Given the description of an element on the screen output the (x, y) to click on. 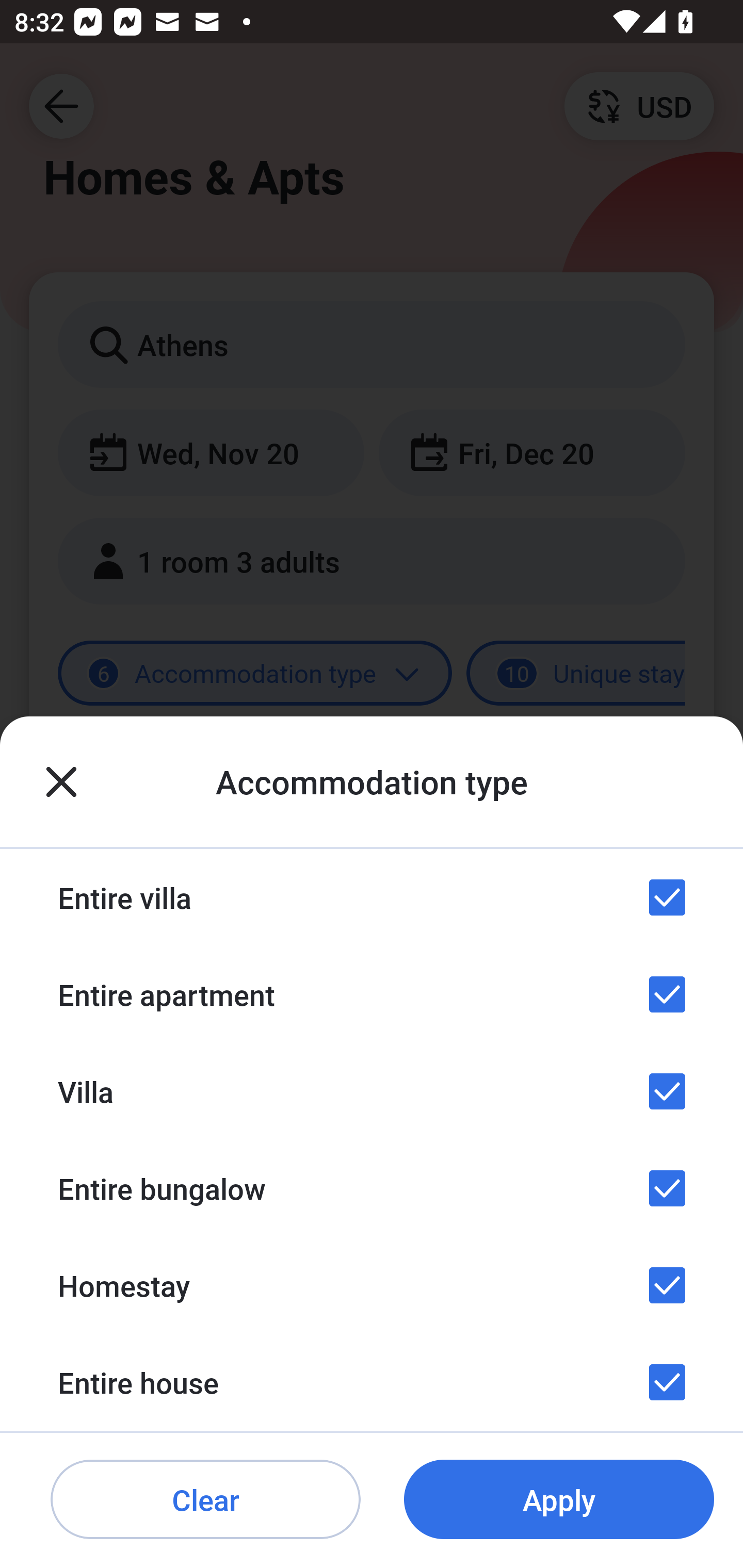
Entire villa (371, 897)
Entire apartment (371, 994)
Villa (371, 1091)
Entire bungalow (371, 1188)
Homestay (371, 1284)
Entire house (371, 1382)
Clear (205, 1499)
Apply (559, 1499)
